Given the description of an element on the screen output the (x, y) to click on. 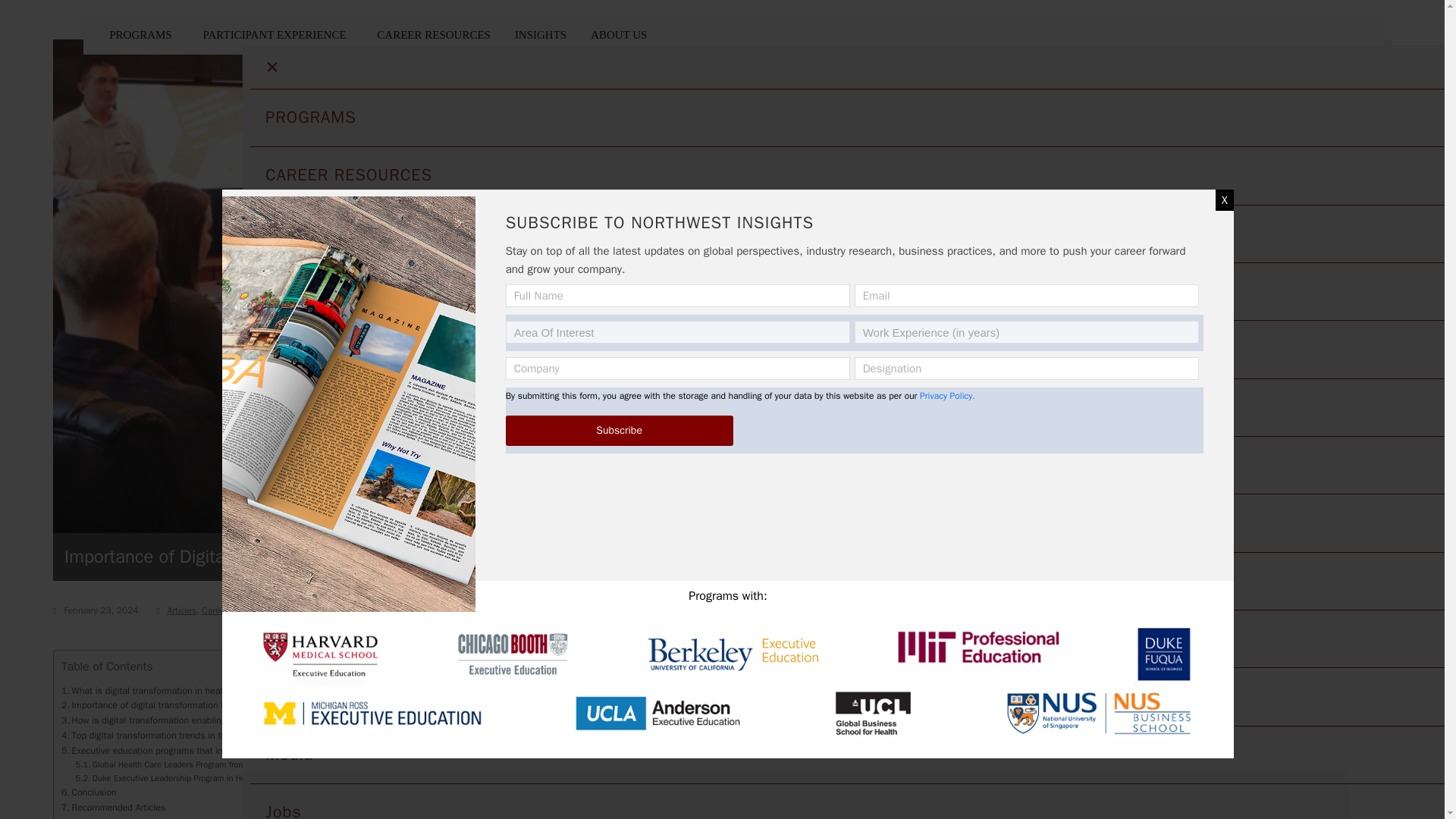
Subscribe (619, 430)
How is digital transformation enabling better healthcare? (182, 720)
Duke Executive Leadership Program in Health Care (177, 778)
Recommended Articles (113, 807)
Importance of digital transformation in healthcare (167, 705)
Conclusion (88, 792)
PROGRAMS (144, 34)
Recommended Articles (113, 807)
What is digital transformation in healthcare? (157, 691)
